Given the description of an element on the screen output the (x, y) to click on. 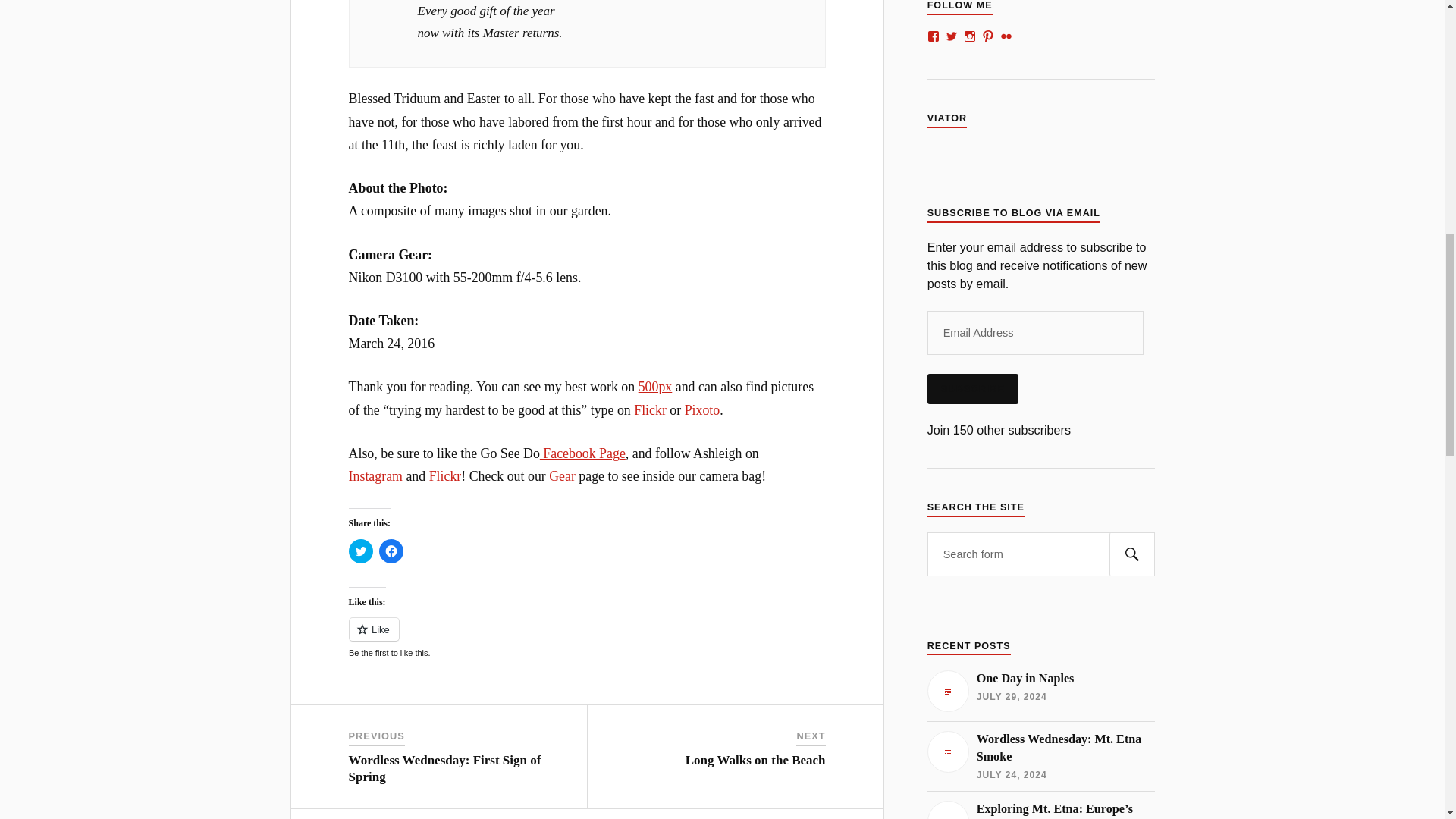
 Facebook Page (583, 453)
Click to share on Facebook (390, 550)
Pixoto (702, 409)
Long Walks on the Beach (755, 759)
SUBSCRIBE (972, 388)
Instagram (376, 476)
Flickr (445, 476)
Like or Reblog (587, 638)
Gear (561, 476)
500px (655, 386)
Instagram (376, 476)
Wordless Wednesday: First Sign of Spring (445, 767)
Facebook (583, 453)
Flickr (445, 476)
Flickr (649, 409)
